Given the description of an element on the screen output the (x, y) to click on. 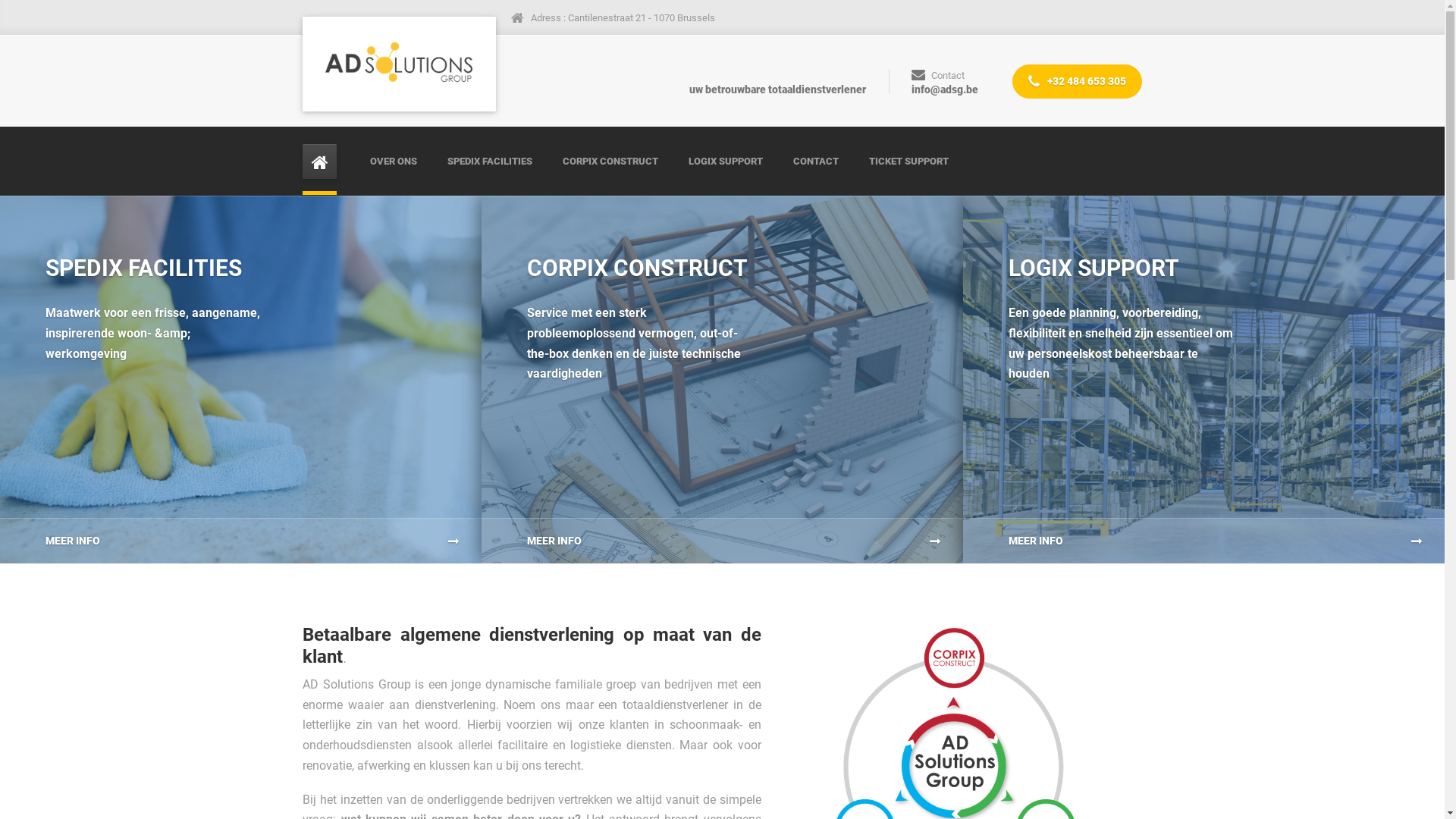
SPEDIX FACILITIES Element type: text (489, 160)
LOGIX SUPPORT Element type: text (725, 160)
+32 484 653 305 Element type: text (1077, 81)
MEER INFO Element type: text (1203, 540)
MEER INFO Element type: text (240, 540)
MEER INFO Element type: text (722, 540)
TICKET SUPPORT Element type: text (908, 160)
CORPIX CONSTRUCT Element type: text (610, 160)
CONTACT Element type: text (815, 160)
OVER ONS Element type: text (401, 160)
Contact
info@adsg.be Element type: text (939, 80)
